Given the description of an element on the screen output the (x, y) to click on. 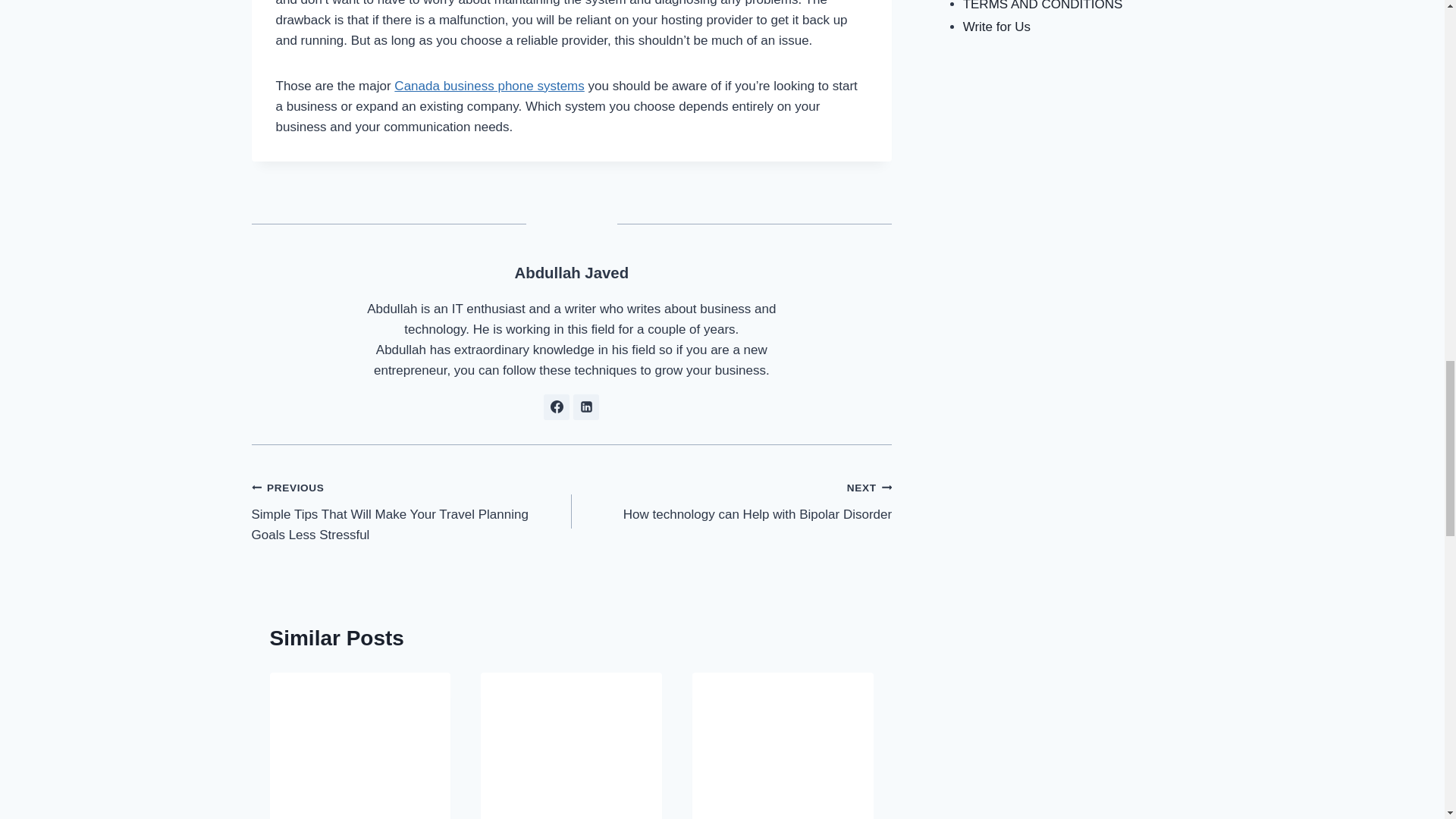
Follow Abdullah Javed on Linkedin (585, 406)
business phone systems (783, 732)
Posts by Abdullah Javed (570, 272)
business phone systems (360, 732)
Follow Abdullah Javed on Facebook (556, 406)
business phone systems (571, 732)
